Given the description of an element on the screen output the (x, y) to click on. 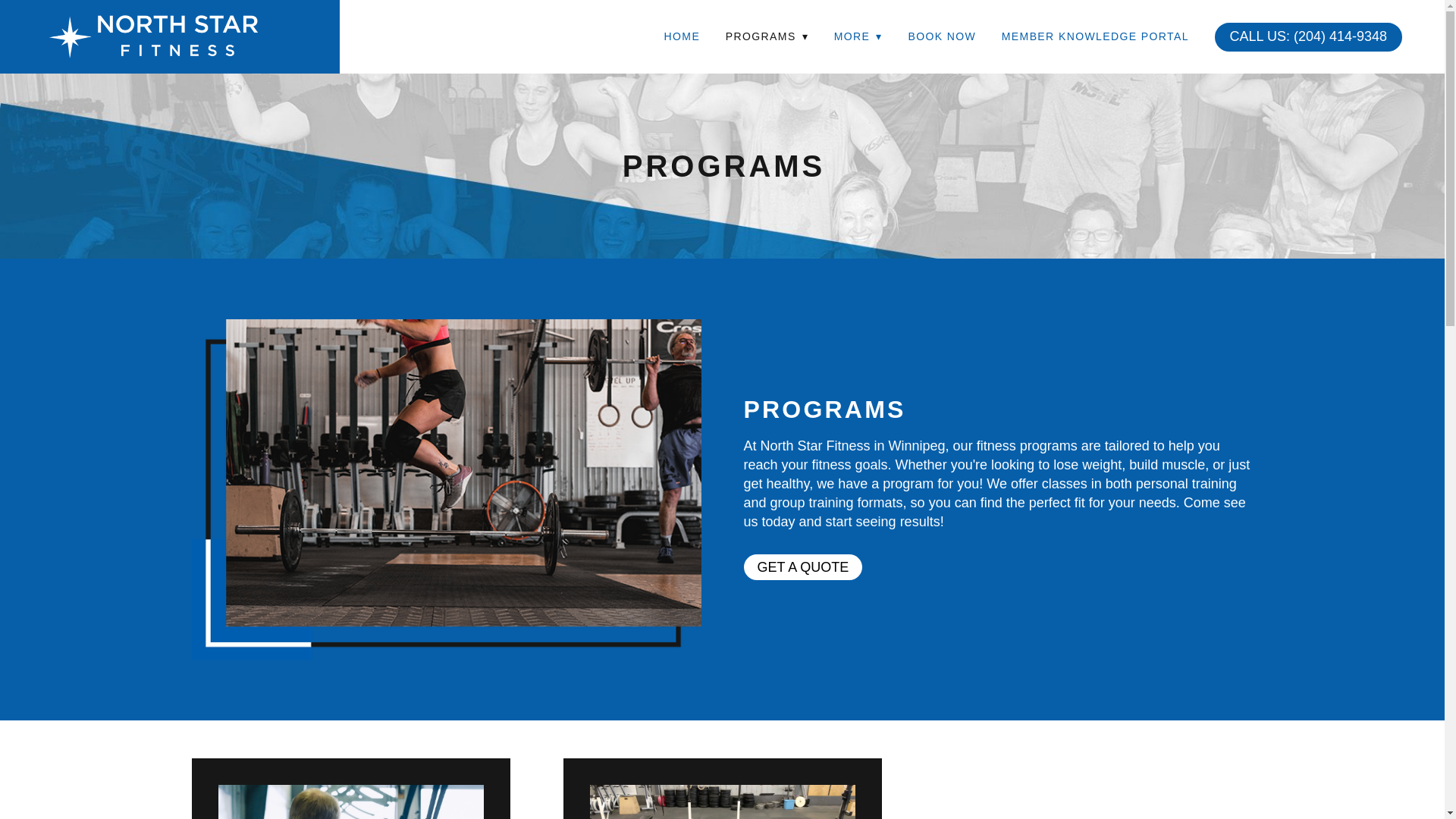
Group fitness class working out together (722, 801)
BOOK NOW (941, 36)
Woman working out with trainer (350, 801)
North Star Fitness (152, 36)
HOME (681, 36)
GET A QUOTE (801, 566)
MEMBER KNOWLEDGE PORTAL (1095, 36)
